Given the description of an element on the screen output the (x, y) to click on. 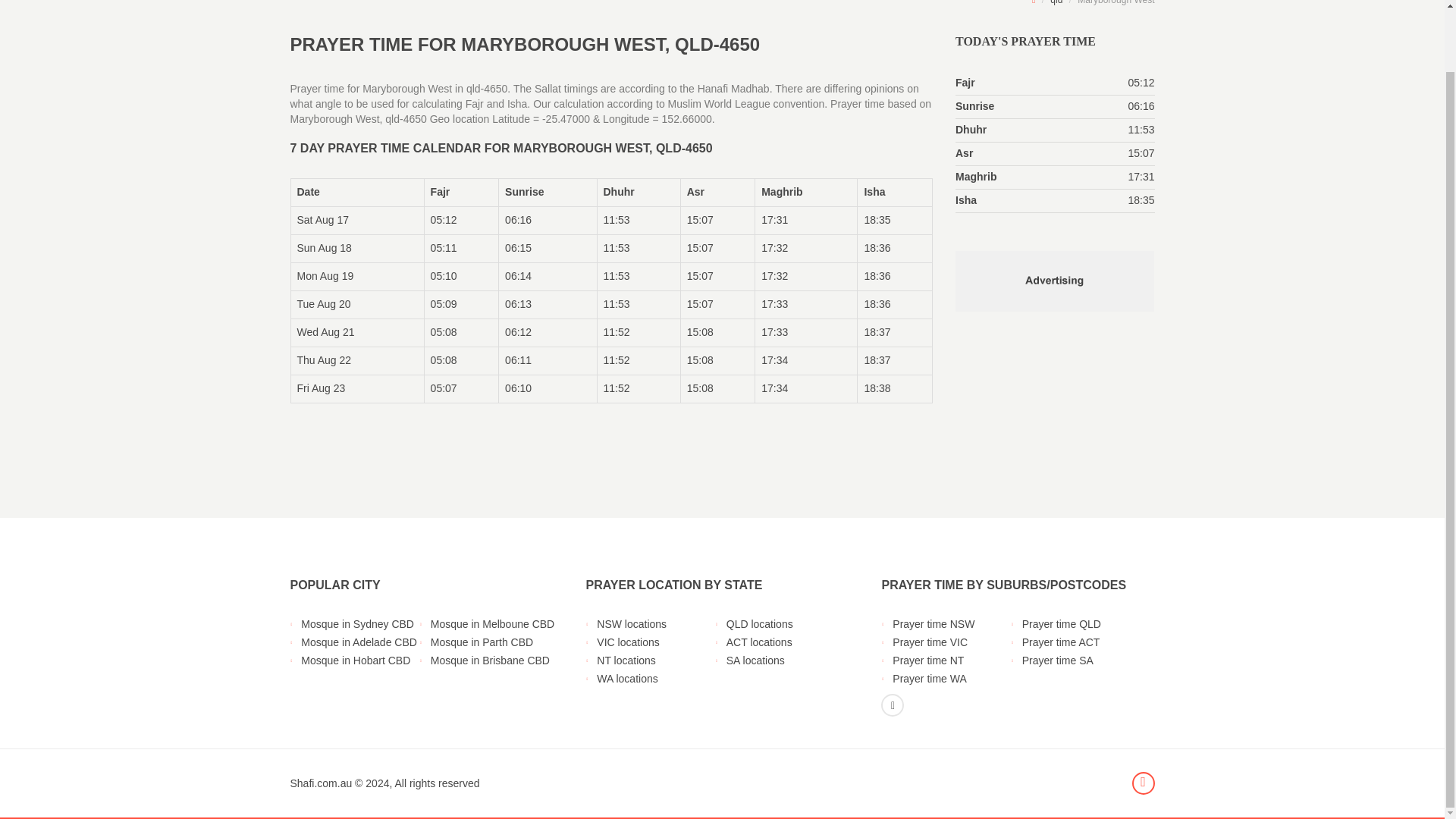
Mosque in Melboune CBD (492, 624)
qld (1055, 2)
Mosque in Sydney CBD (362, 624)
